Given the description of an element on the screen output the (x, y) to click on. 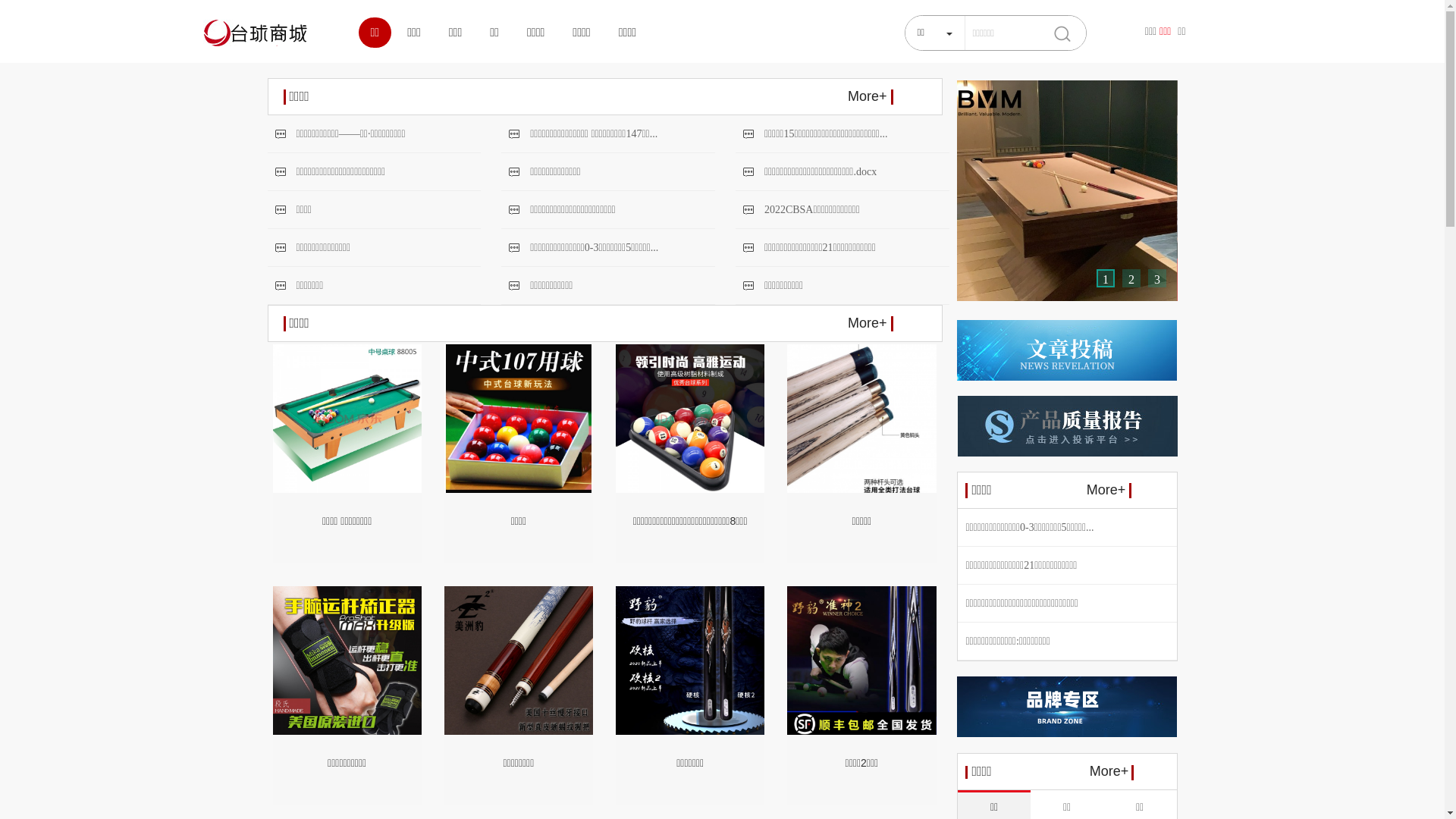
More+  Element type: text (870, 322)
 More+  Element type: text (1109, 771)
3 Element type: text (1156, 279)
2 Element type: text (1131, 279)
1 Element type: text (1105, 279)
More+  Element type: text (1109, 489)
More+  Element type: text (870, 95)
